Given the description of an element on the screen output the (x, y) to click on. 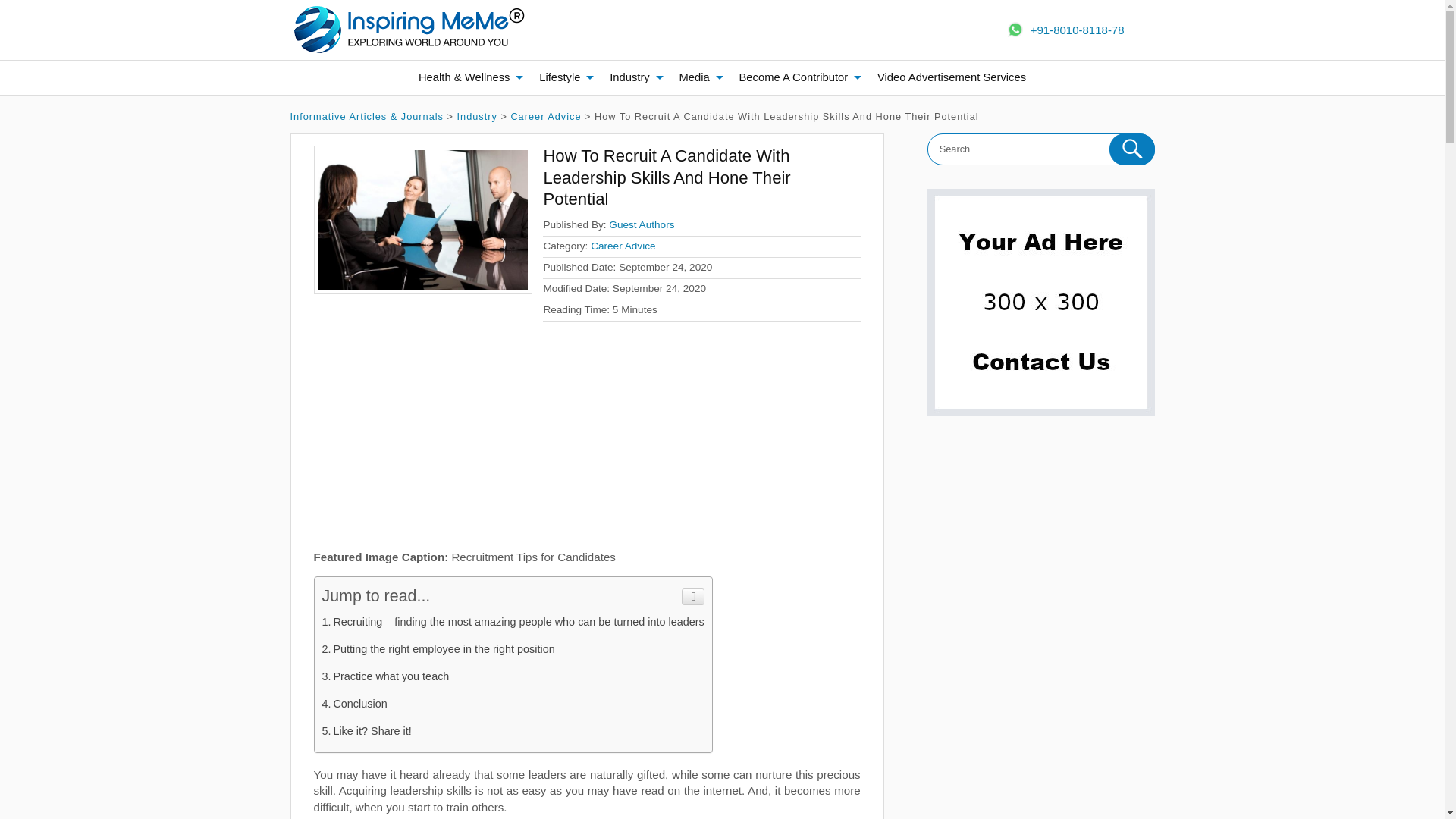
Putting the right employee in the right position (437, 648)
Posts by Guest Authors (641, 224)
Industry (477, 116)
Conclusion (354, 703)
Career Advice (545, 116)
Practice what you teach (384, 676)
Advertisement (587, 442)
Like it? Share it! (365, 730)
